Given the description of an element on the screen output the (x, y) to click on. 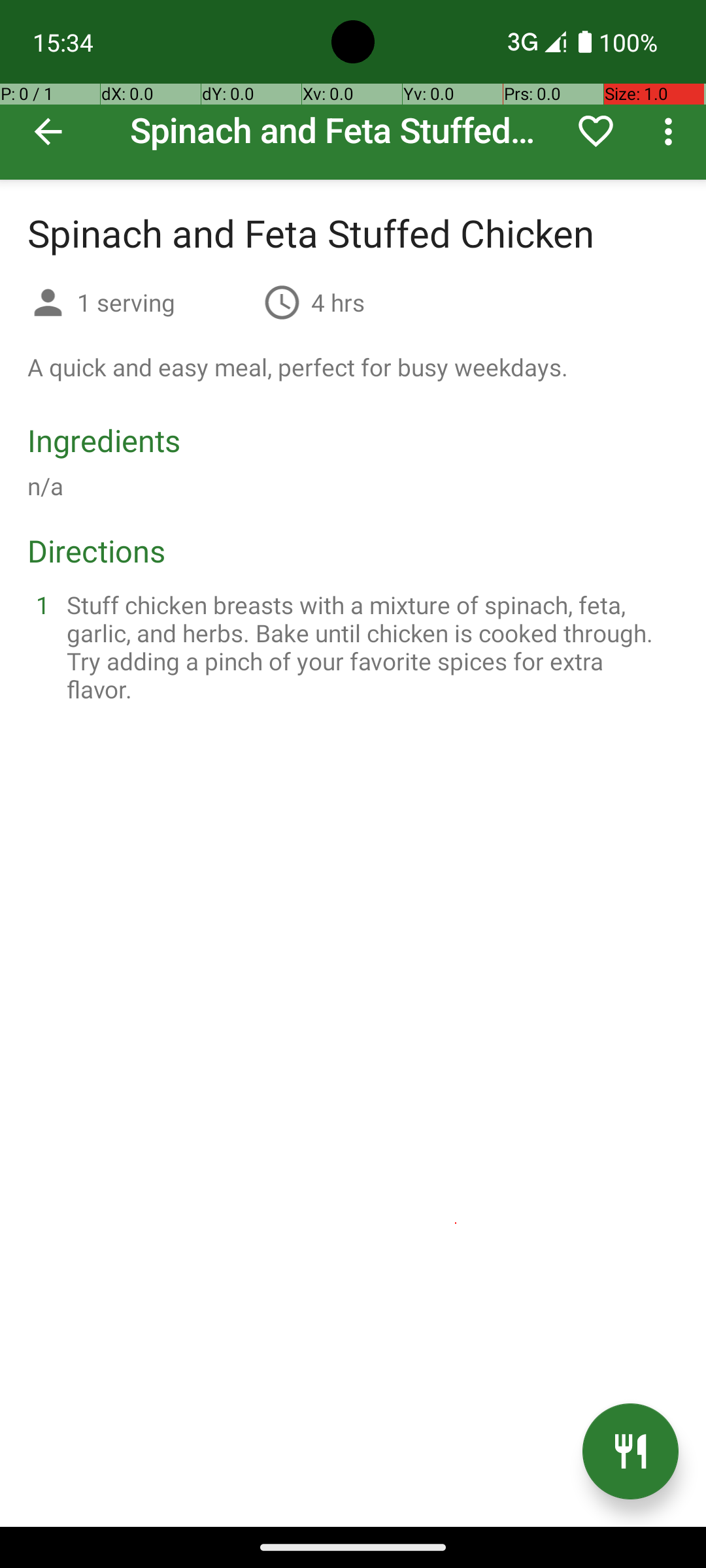
Spinach and Feta Stuffed Chicken Element type: android.widget.FrameLayout (353, 89)
4 hrs Element type: android.widget.TextView (337, 301)
n/a Element type: android.widget.TextView (45, 485)
Stuff chicken breasts with a mixture of spinach, feta, garlic, and herbs. Bake until chicken is cooked through. Try adding a pinch of your favorite spices for extra flavor. Element type: android.widget.TextView (368, 646)
